Given the description of an element on the screen output the (x, y) to click on. 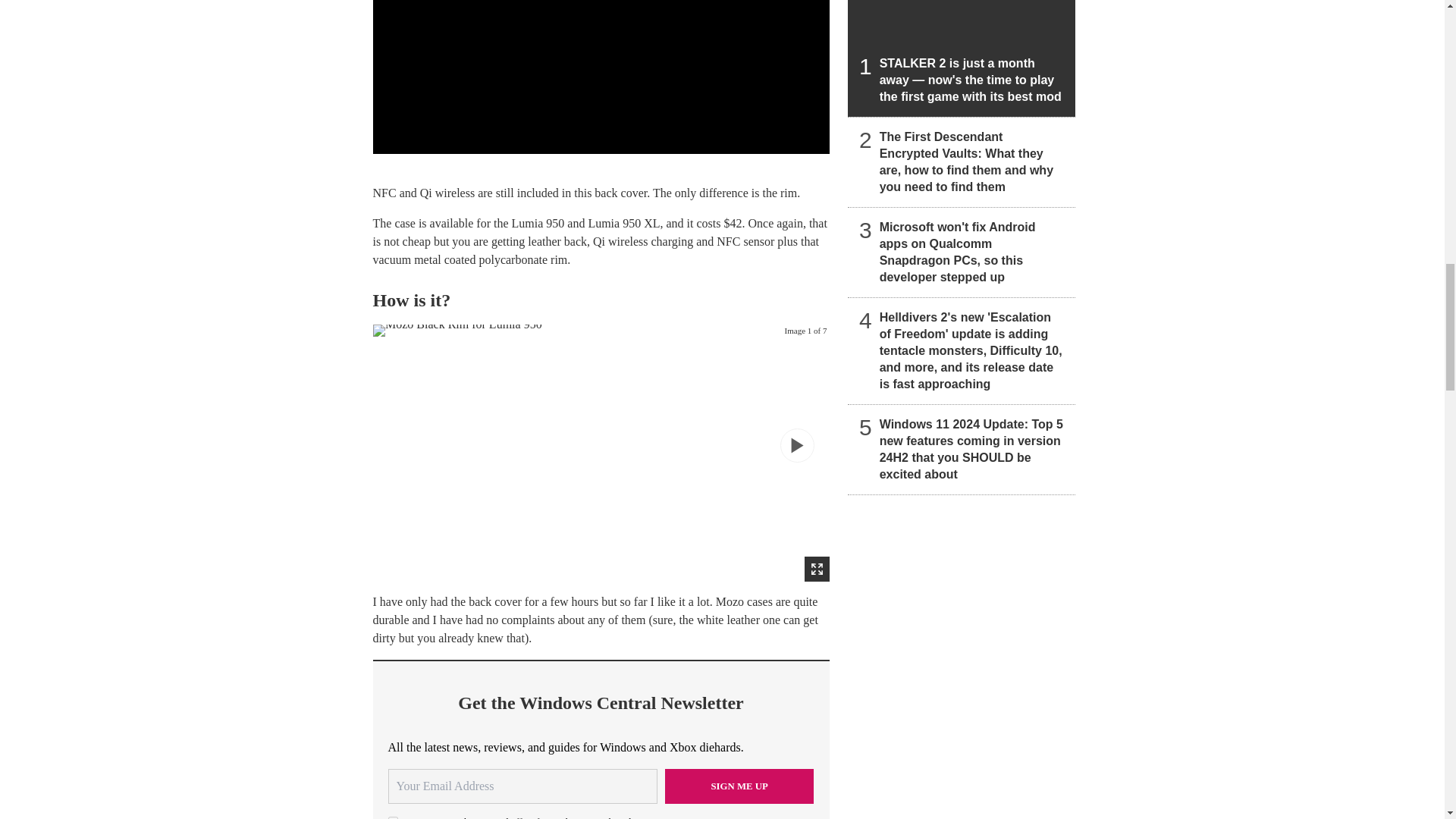
Sign me up (739, 786)
